Given the description of an element on the screen output the (x, y) to click on. 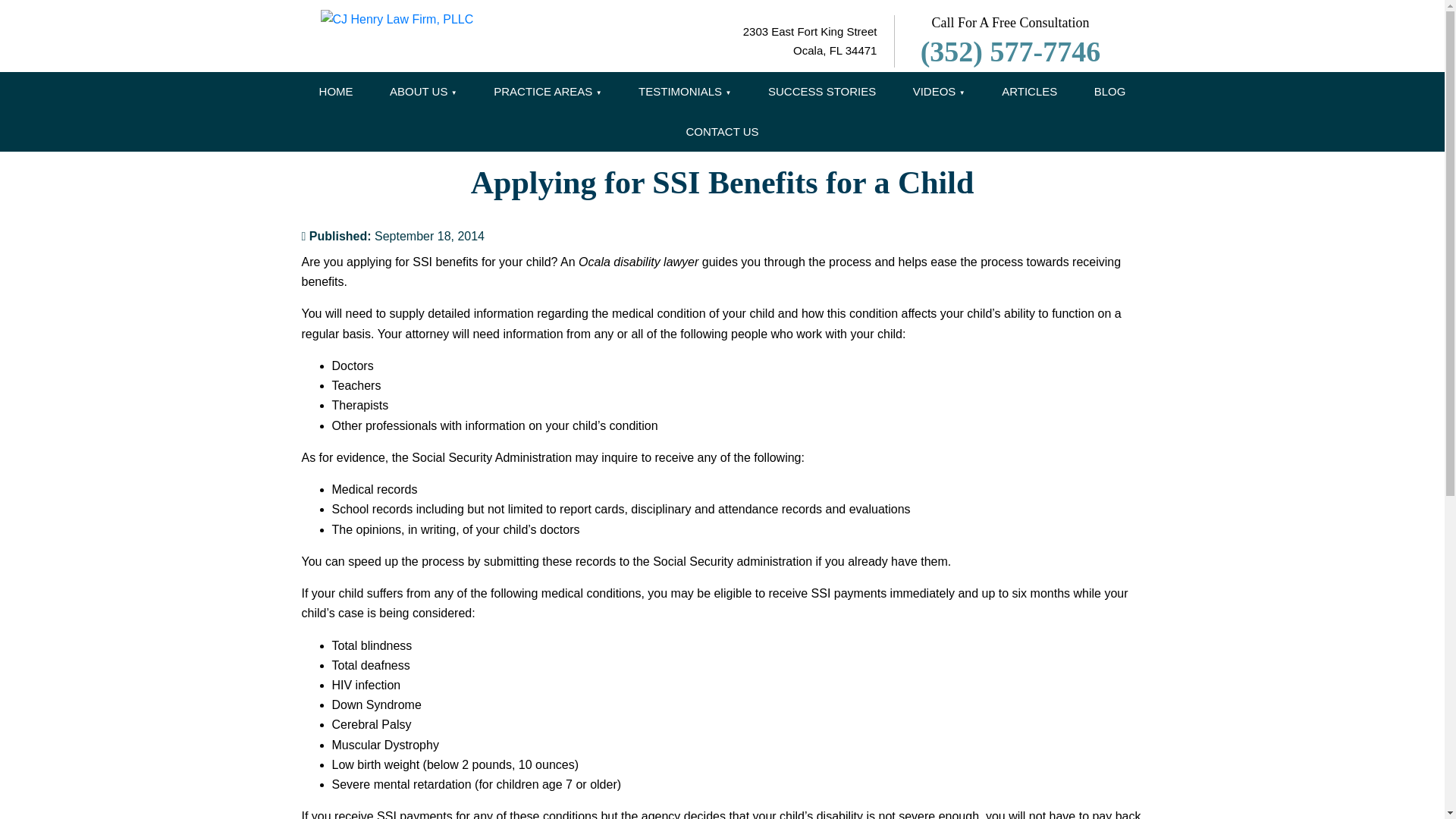
CONTACT US (721, 132)
BLOG (1109, 92)
ARTICLES (1029, 92)
PRACTICE AREAS (547, 92)
TESTIMONIALS (684, 92)
SUCCESS STORIES (821, 92)
VIDEOS (938, 92)
HOME (335, 92)
ABOUT US (423, 92)
